Given the description of an element on the screen output the (x, y) to click on. 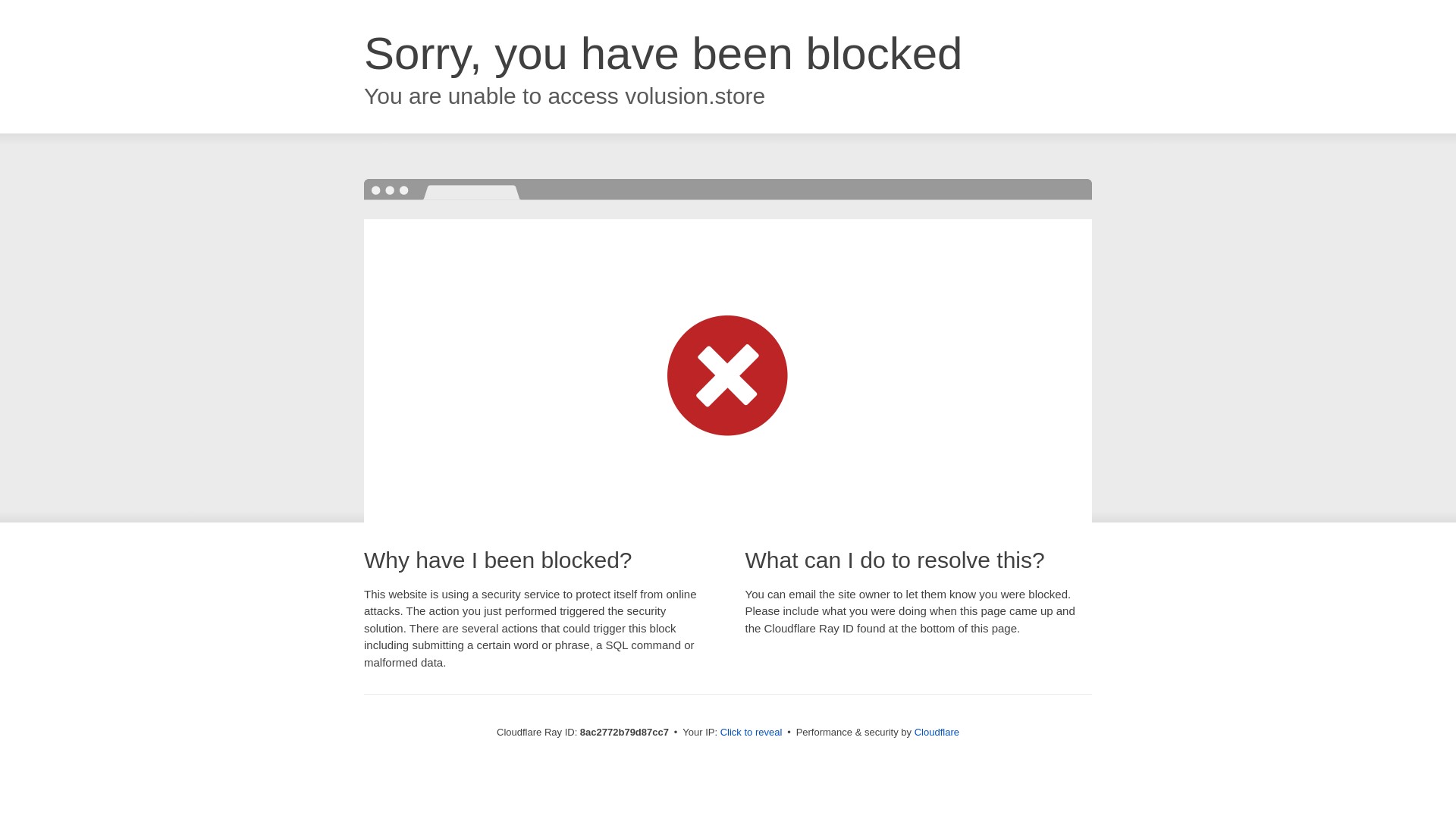
Cloudflare (936, 731)
Click to reveal (751, 732)
